Given the description of an element on the screen output the (x, y) to click on. 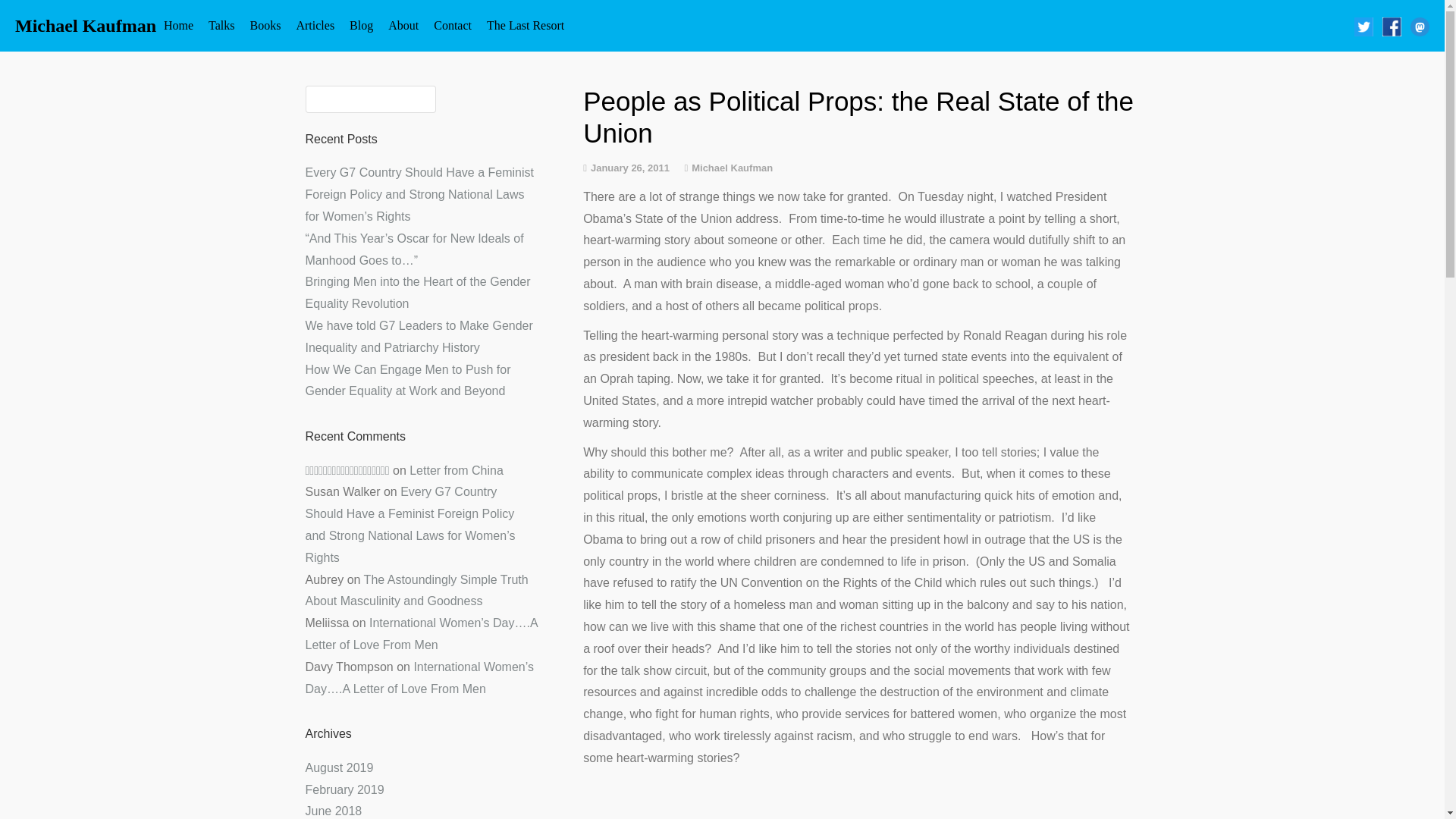
Blog (361, 25)
Home (177, 25)
Michael Kaufman (84, 25)
Articles (315, 25)
Contact (452, 25)
Search for: (369, 99)
Follow Us on Facebook (1390, 26)
Talks (220, 25)
Search (32, 15)
The Last Resort (525, 25)
About (403, 25)
Letter from China (456, 470)
August 2019 (338, 767)
